Given the description of an element on the screen output the (x, y) to click on. 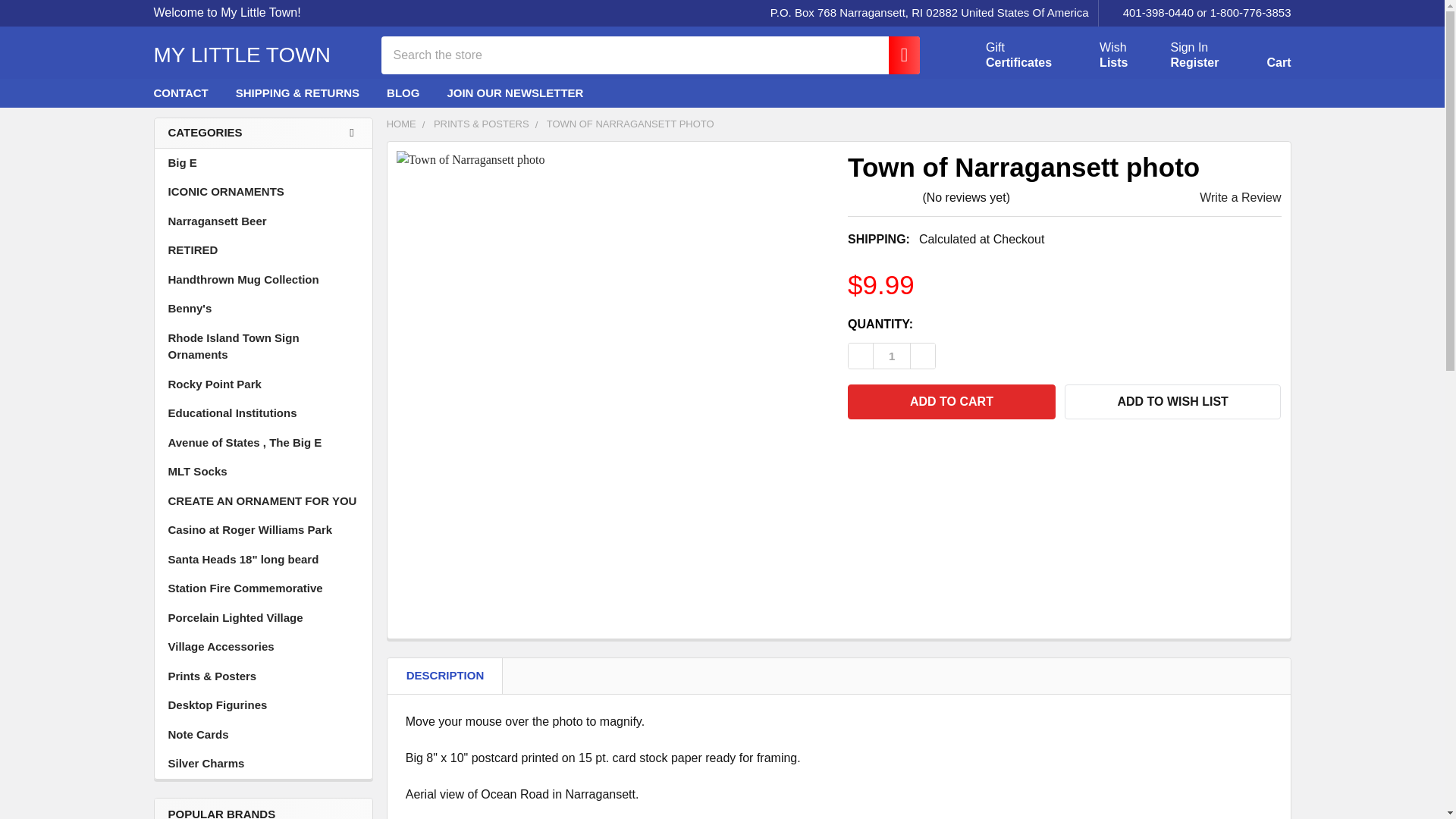
CONTACT (180, 93)
Search (896, 55)
Gift Certificates (1000, 55)
1 (891, 355)
MY LITTLE TOWN (1000, 55)
401-398-0440 or 1-800-776-3853 (241, 55)
Add to Cart (1195, 13)
Facebook (951, 401)
